Given the description of an element on the screen output the (x, y) to click on. 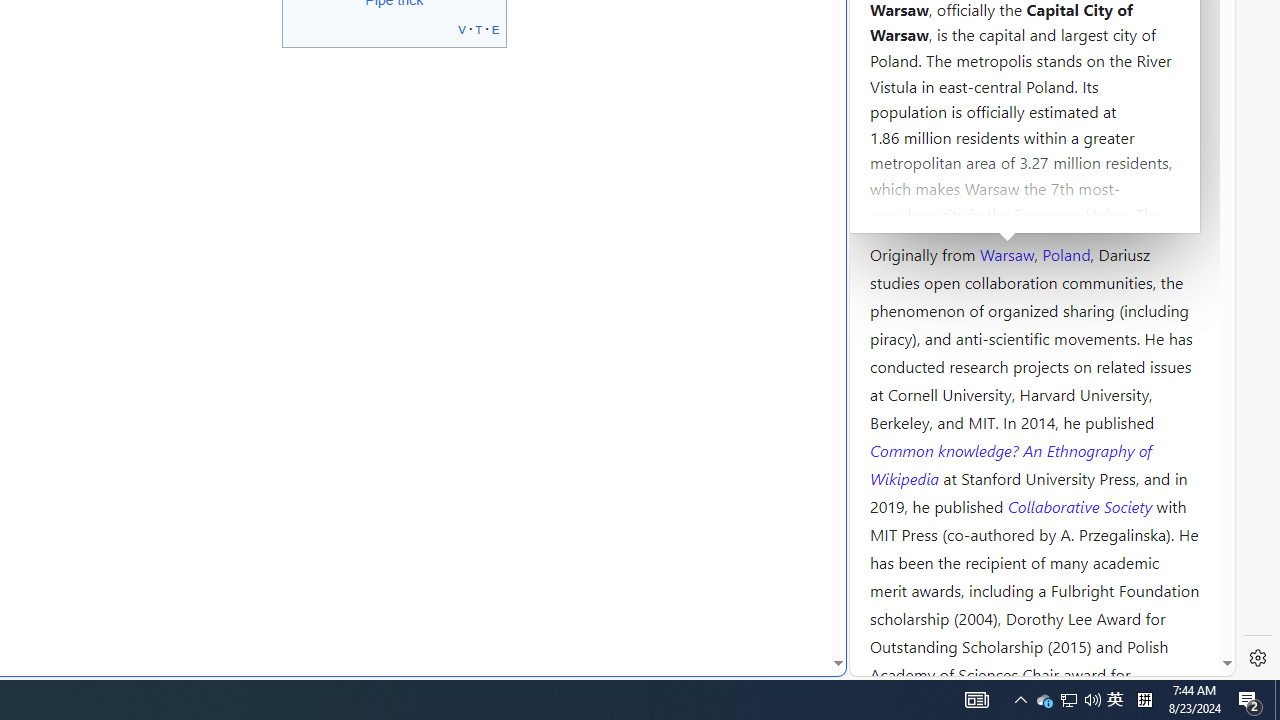
e (495, 28)
Warsaw (1006, 253)
Common knowledge? An Ethnography of Wikipedia (1010, 463)
v (462, 28)
